Given the description of an element on the screen output the (x, y) to click on. 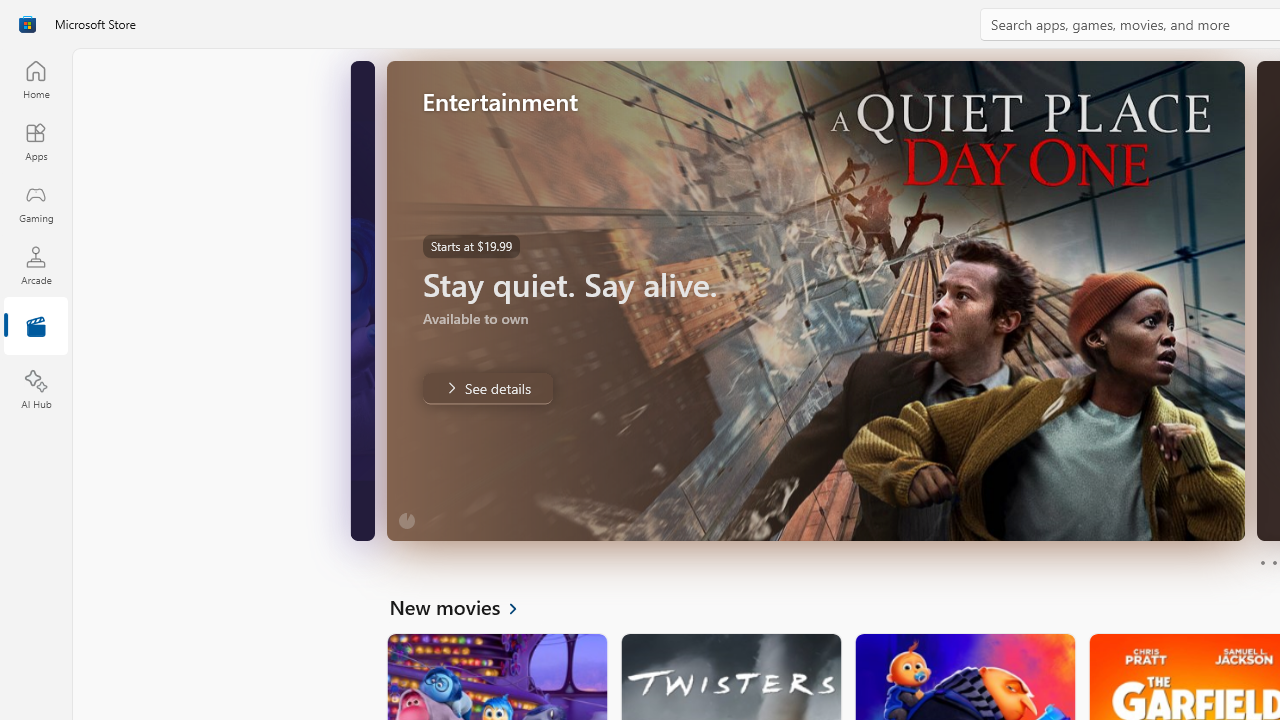
Arcade (35, 265)
See all  New movies (464, 606)
Home (35, 79)
Gaming (35, 203)
AutomationID: Image (815, 300)
Page 2 (1274, 562)
Apps (35, 141)
Unmute (355, 512)
Page 1 (1261, 562)
AI Hub (35, 390)
Class: Image (27, 24)
Entertainment (35, 327)
